Given the description of an element on the screen output the (x, y) to click on. 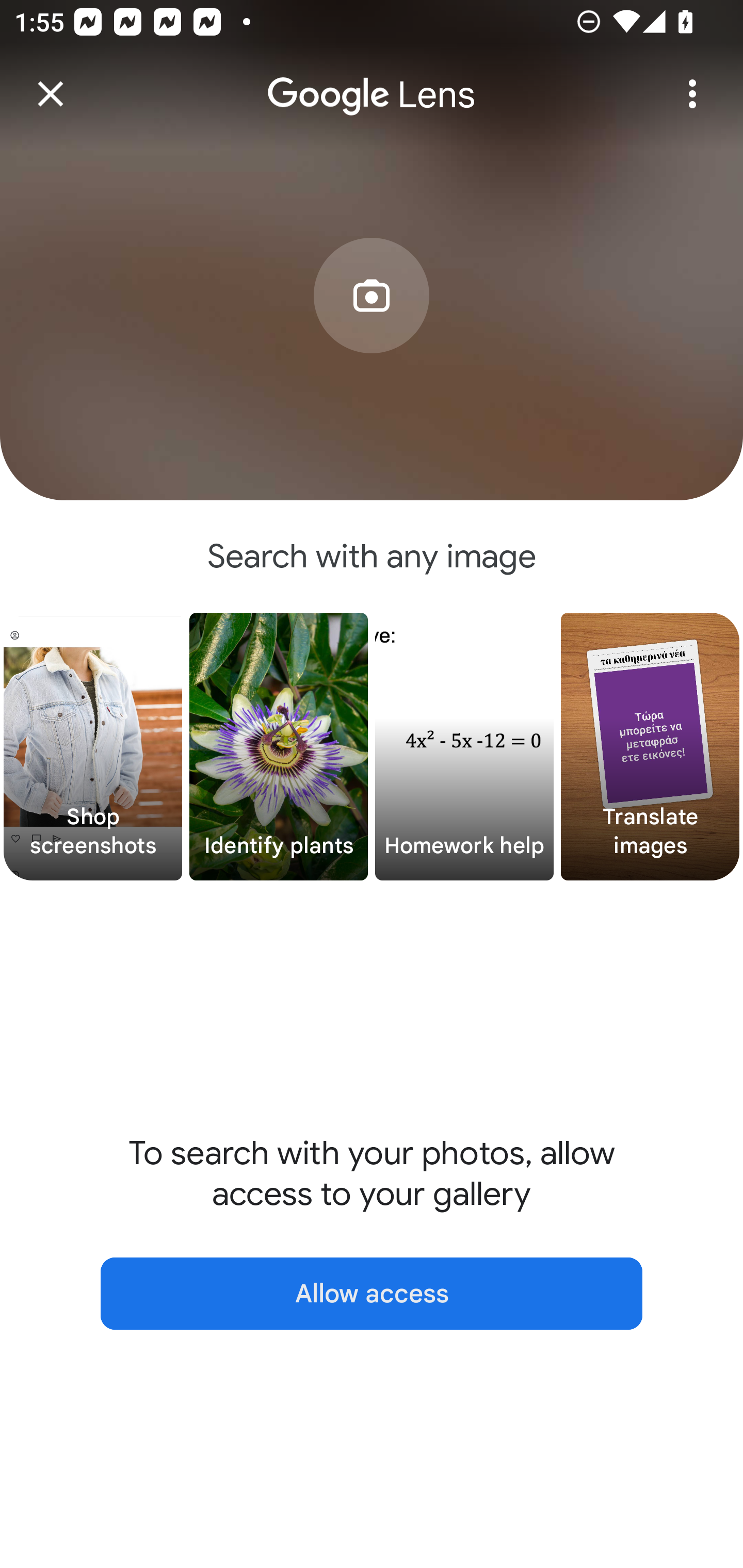
Google Lens Lens (371, 80)
Close (50, 94)
More options (692, 94)
Search with your camera (371, 326)
Shop screenshots (92, 747)
Identify plants (278, 747)
Homework help (464, 747)
Translate images (649, 747)
Allow access (371, 1293)
